Given the description of an element on the screen output the (x, y) to click on. 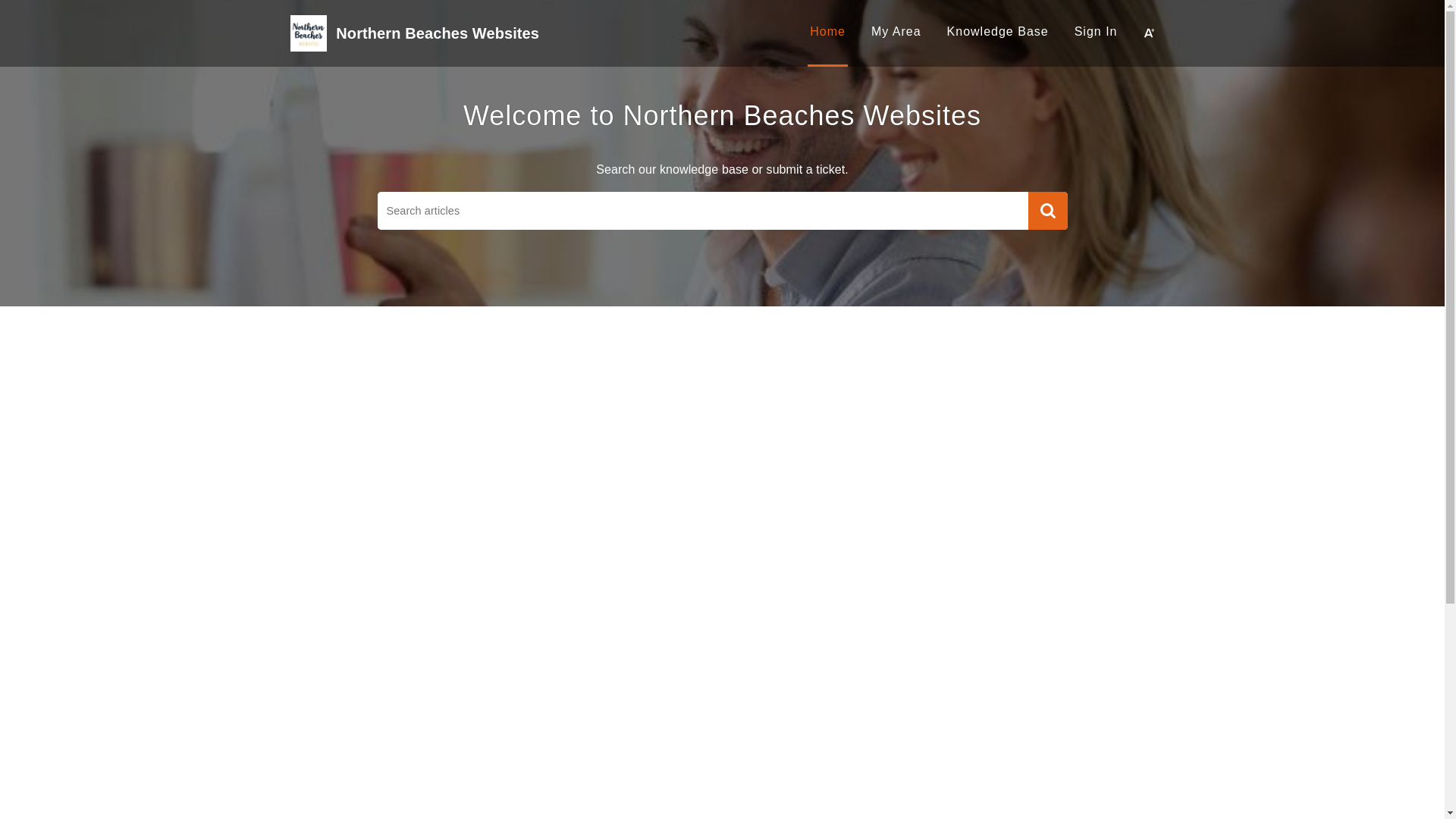
My Area Element type: text (896, 31)
Home Element type: text (827, 31)
Search Element type: hover (1047, 210)
Knowledge Base Element type: text (997, 31)
Sign In Element type: text (1095, 31)
